Given the description of an element on the screen output the (x, y) to click on. 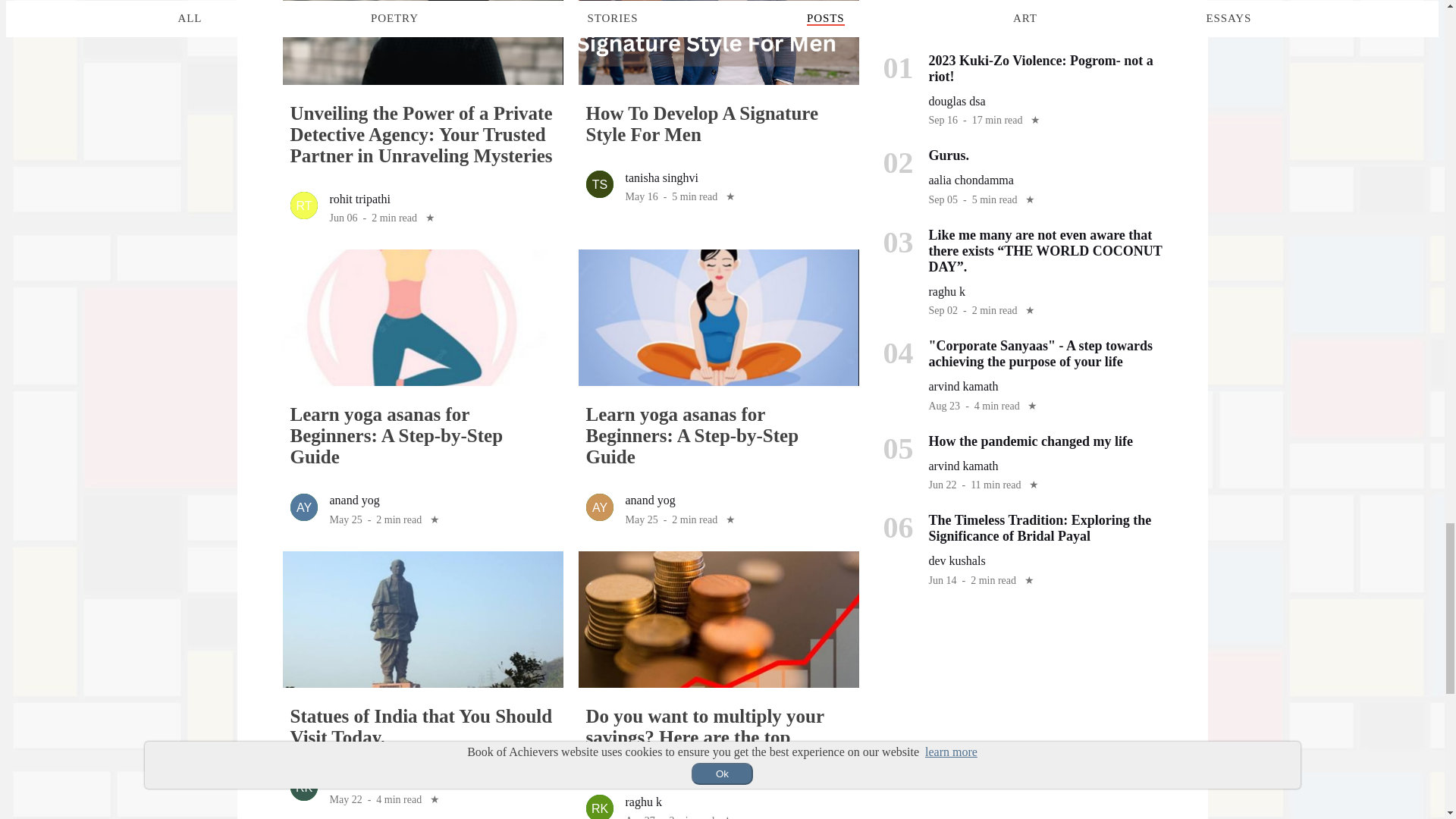
Posts by tanisha singhvi (660, 177)
Posts by anand yog (649, 499)
Posts by rohit tripathi (359, 198)
Posts by anand yog (353, 499)
